Given the description of an element on the screen output the (x, y) to click on. 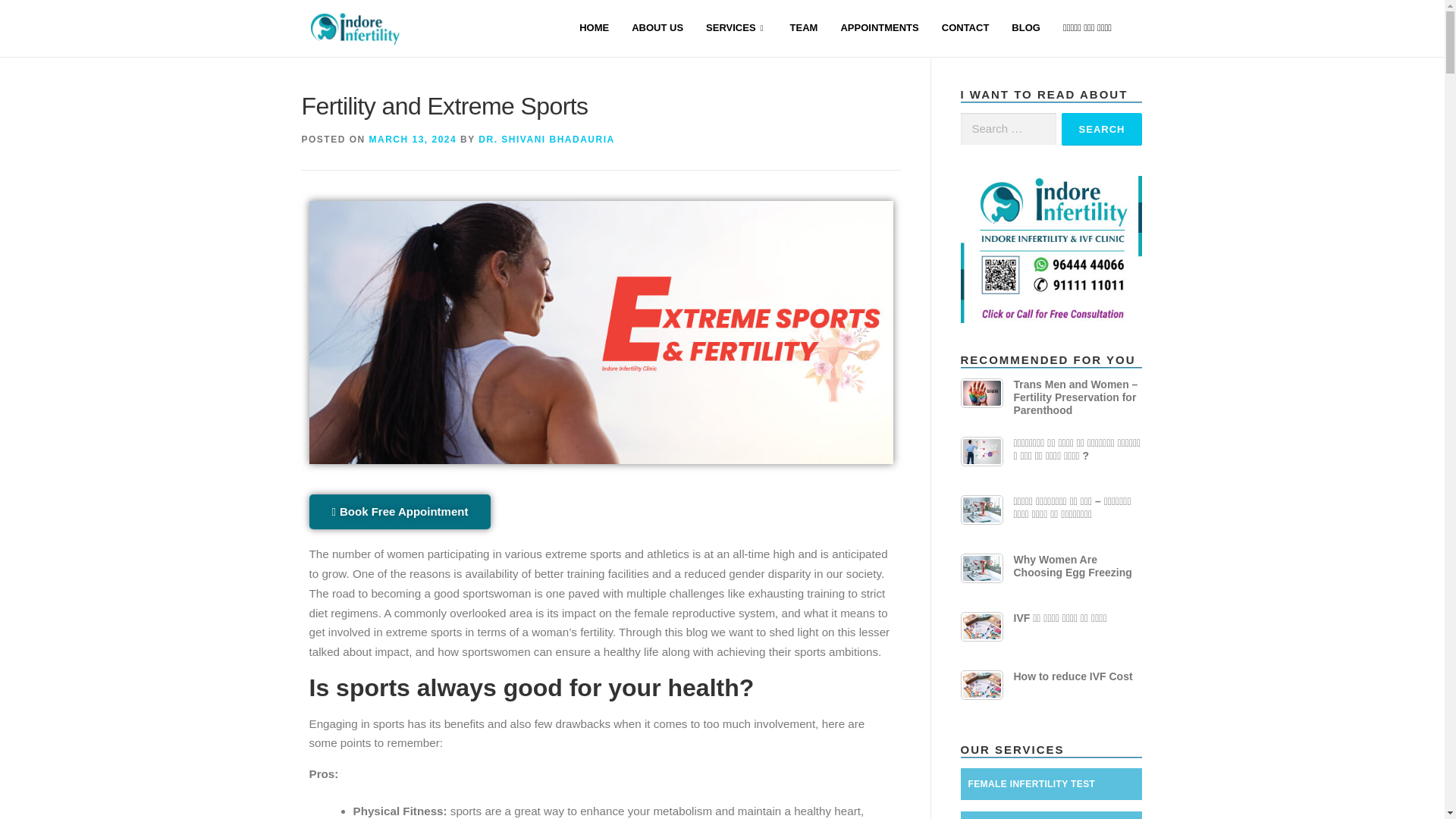
HOME (593, 28)
TEAM (803, 28)
BLOG (1025, 28)
ABOUT US (657, 28)
Search (1101, 129)
APPOINTMENTS (879, 28)
Search (1101, 129)
SERVICES (736, 28)
CONTACT (965, 28)
